Given the description of an element on the screen output the (x, y) to click on. 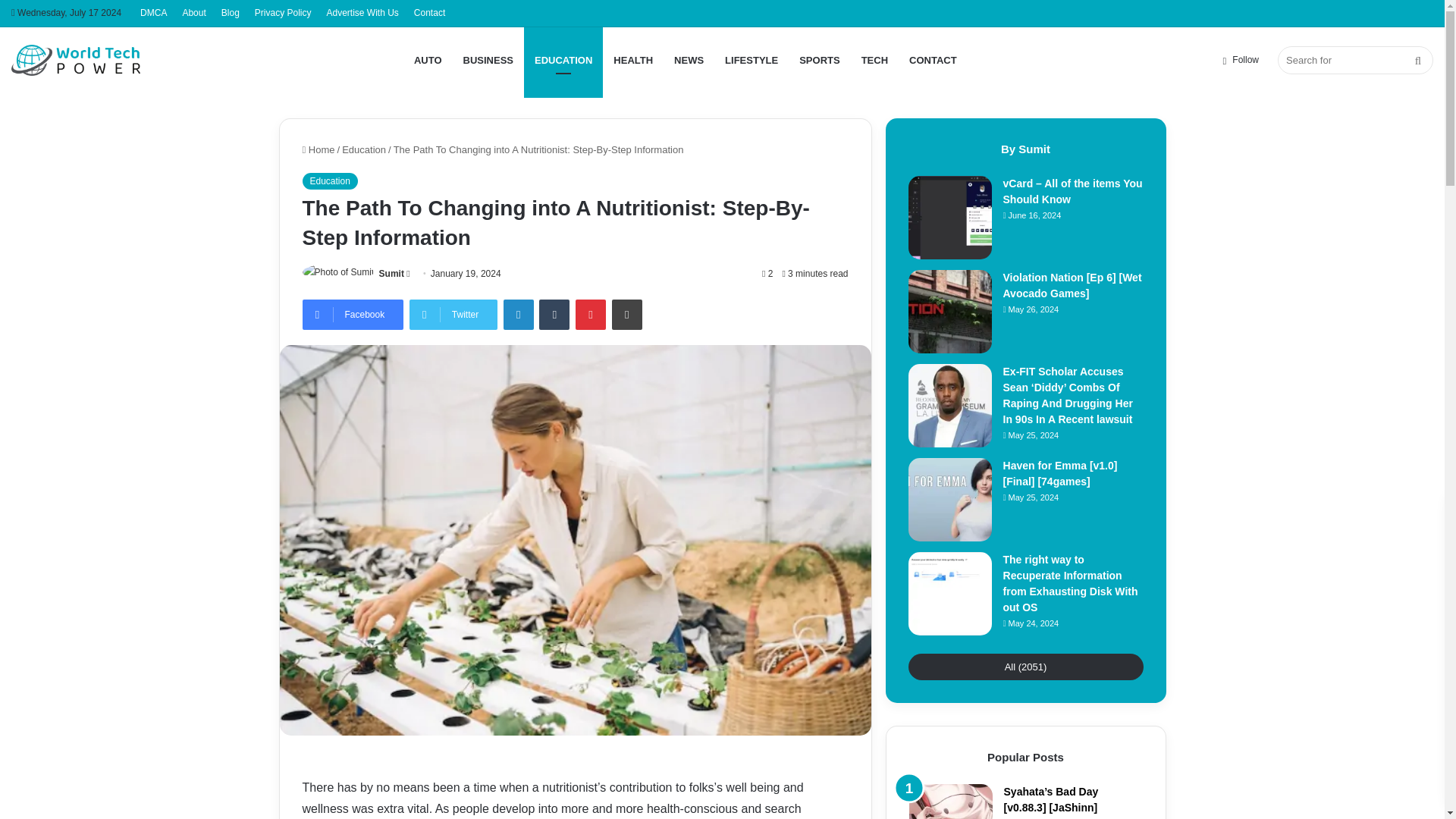
SPORTS (819, 60)
CONTACT (933, 60)
Education (328, 180)
DMCA (153, 13)
Facebook (352, 314)
Facebook (352, 314)
Search for (1355, 59)
Education (363, 149)
HEALTH (632, 60)
Sumit (391, 273)
Advertise With Us (362, 13)
Follow (1240, 60)
World Tech Power (75, 60)
Sumit (391, 273)
Twitter (453, 314)
